Given the description of an element on the screen output the (x, y) to click on. 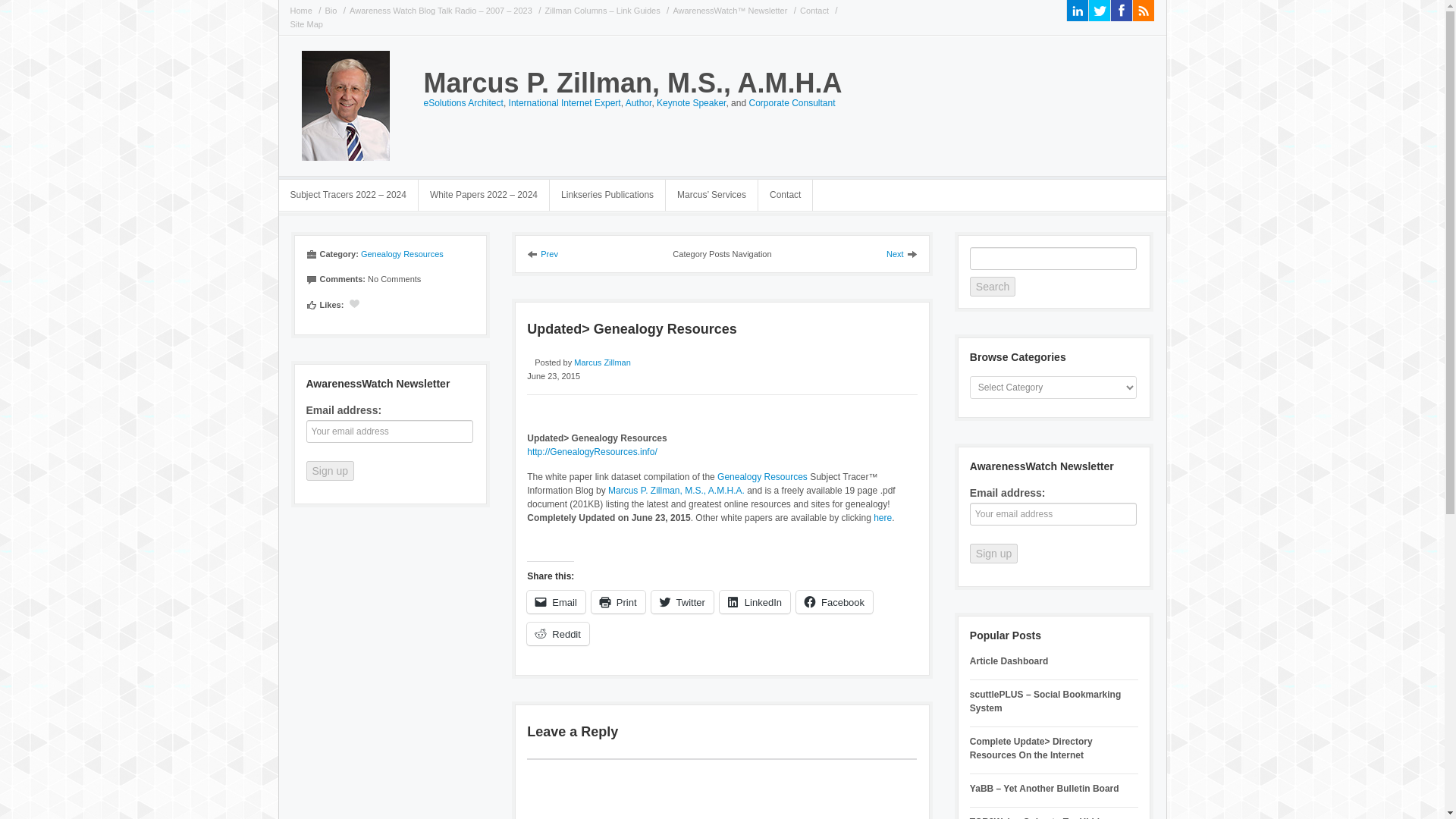
Corporate Consultant (791, 102)
Contact (815, 10)
Search (991, 286)
Keynote Speaker (690, 102)
Marcus P. Zillman, M.S., A.M.H.A (632, 82)
Click to email a link to a friend (556, 601)
Previous Post (542, 254)
Next Post (901, 254)
Sign up (993, 553)
Author (639, 102)
